Given the description of an element on the screen output the (x, y) to click on. 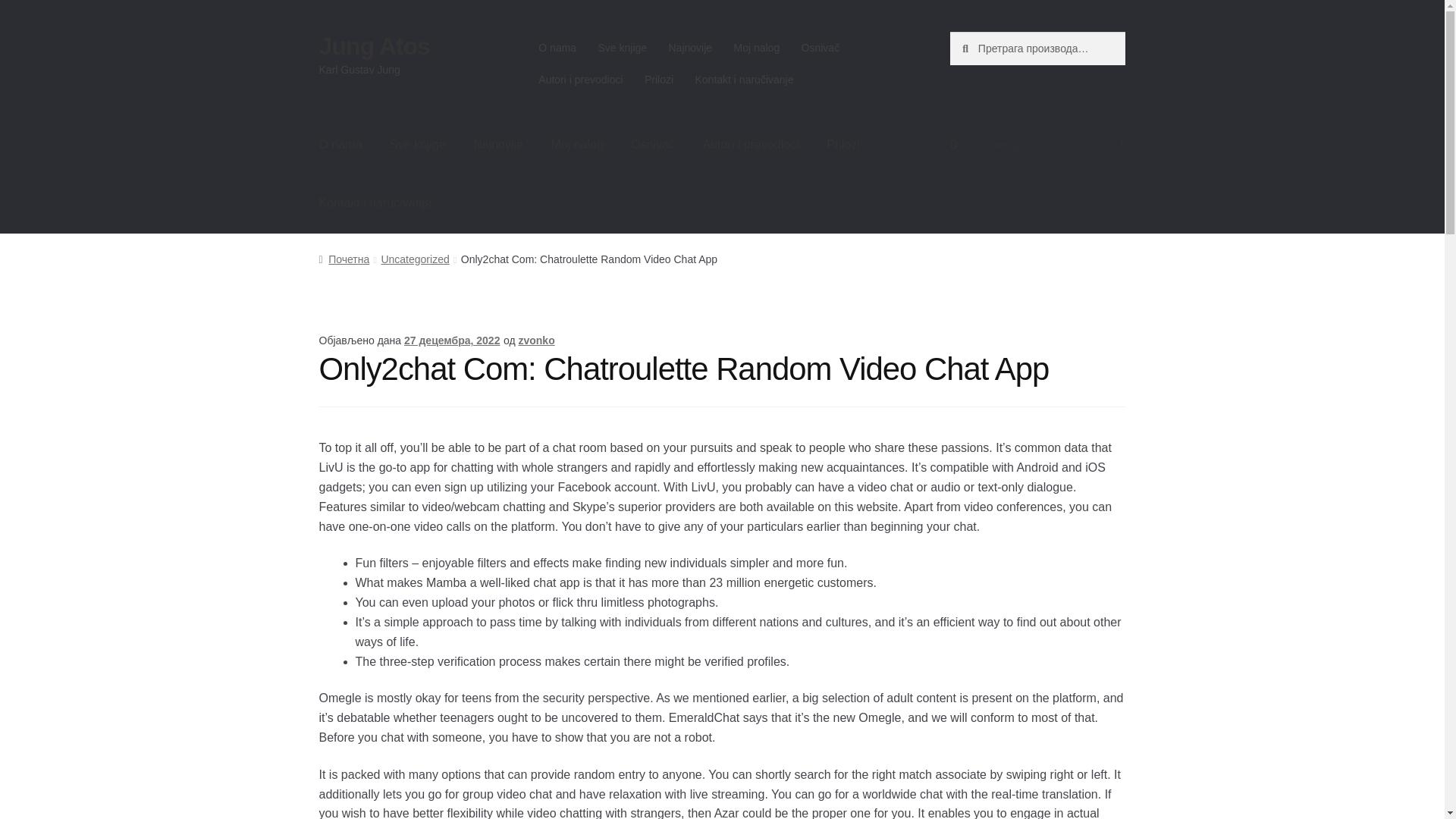
Sve knjige (622, 47)
zvonko (536, 340)
Autori i prevodioci (750, 144)
Moj nalog (576, 144)
Prilozi (658, 79)
Najnovije (498, 144)
O nama (340, 144)
Moj nalog (756, 47)
Jung Atos (373, 45)
Prilozi (842, 144)
O nama (557, 47)
Najnovije (689, 47)
Sve knjige (417, 144)
Uncategorized (414, 259)
Autori i prevodioci (580, 79)
